Given the description of an element on the screen output the (x, y) to click on. 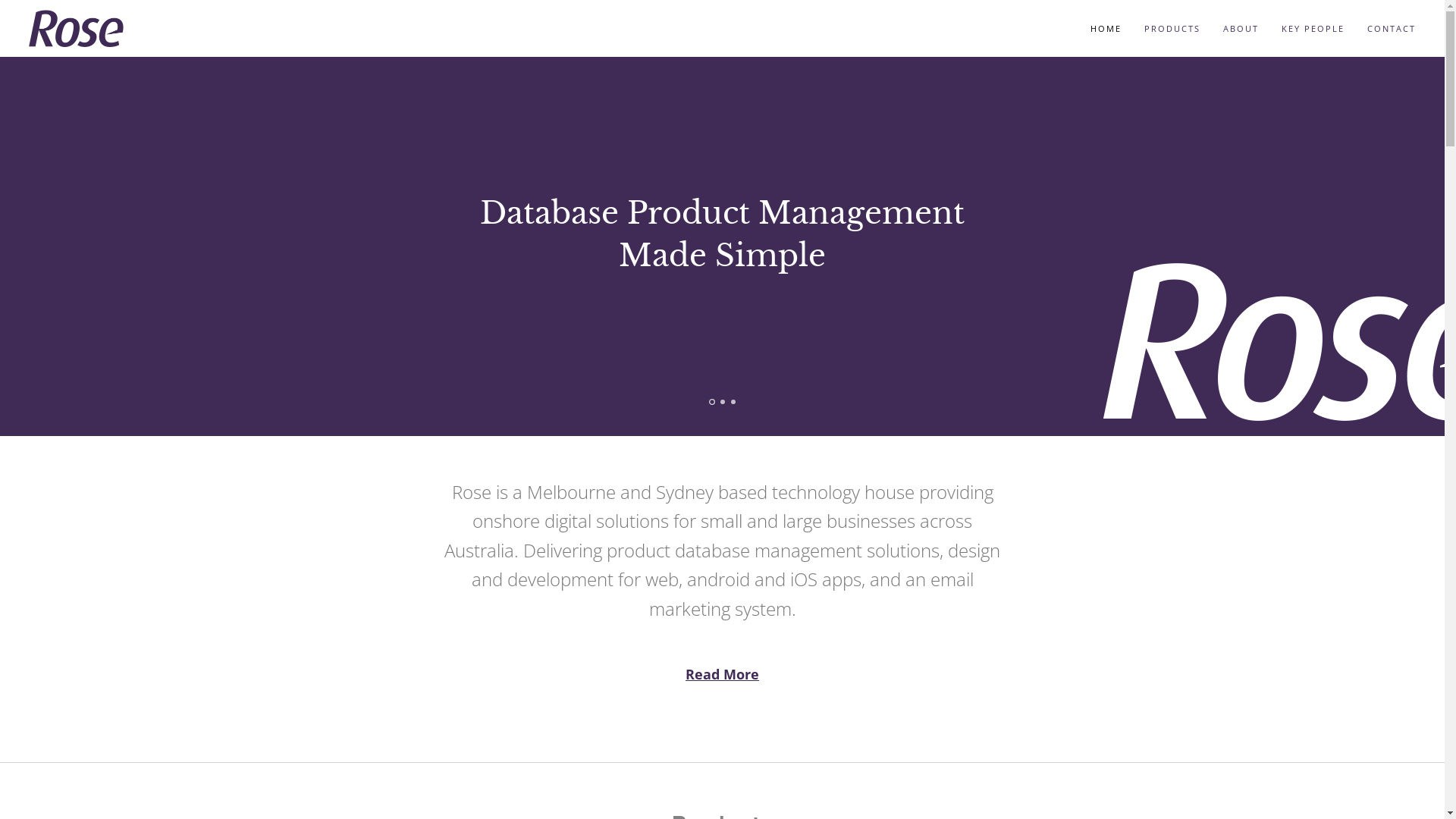
KEY PEOPLE Element type: text (1312, 28)
HOME Element type: text (1105, 28)
ABOUT Element type: text (1240, 28)
PRODUCTS Element type: text (1172, 28)
Read More Element type: text (722, 674)
CONTACT Element type: text (1391, 28)
